Given the description of an element on the screen output the (x, y) to click on. 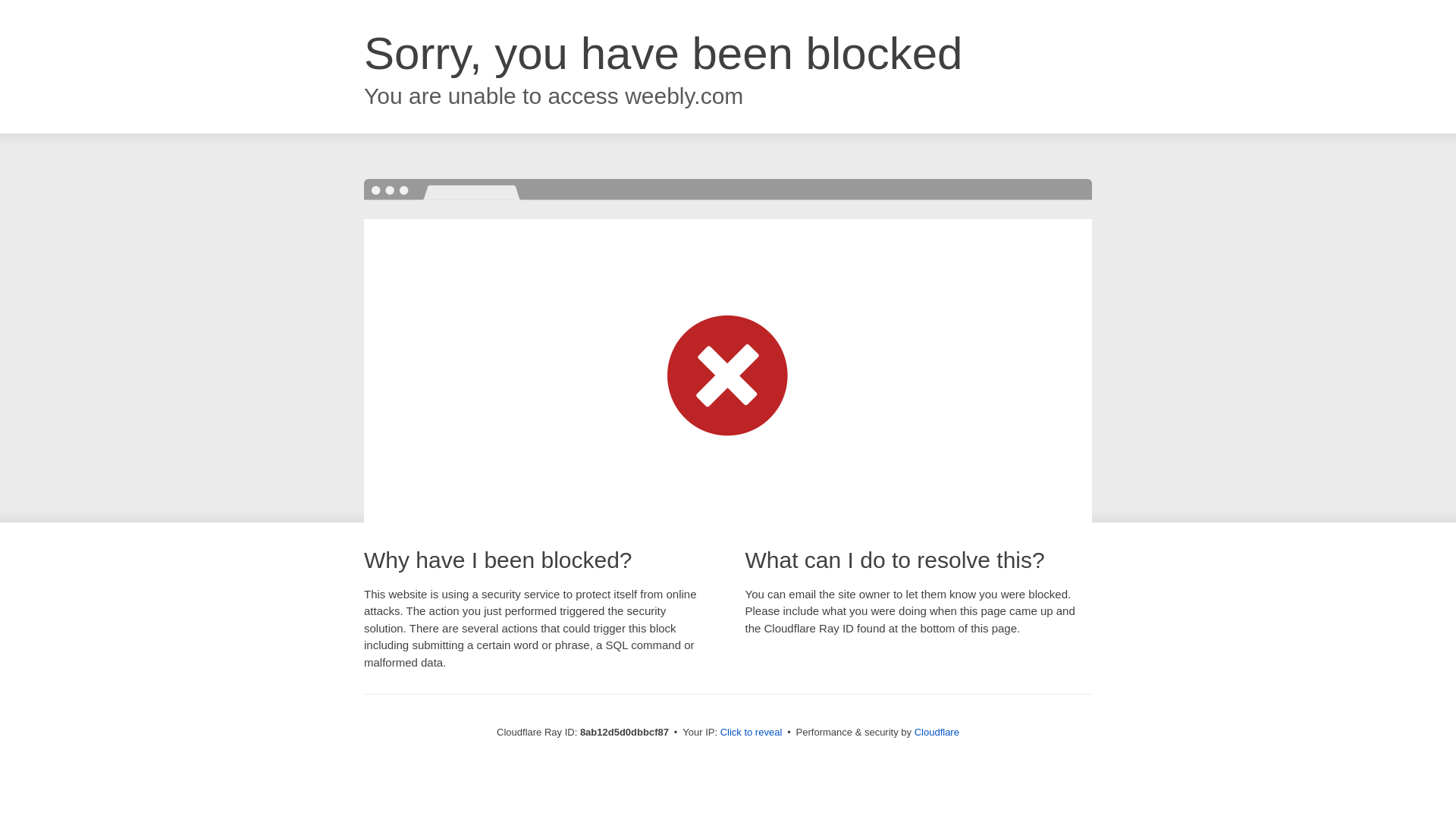
Click to reveal (751, 732)
Cloudflare (936, 731)
